Given the description of an element on the screen output the (x, y) to click on. 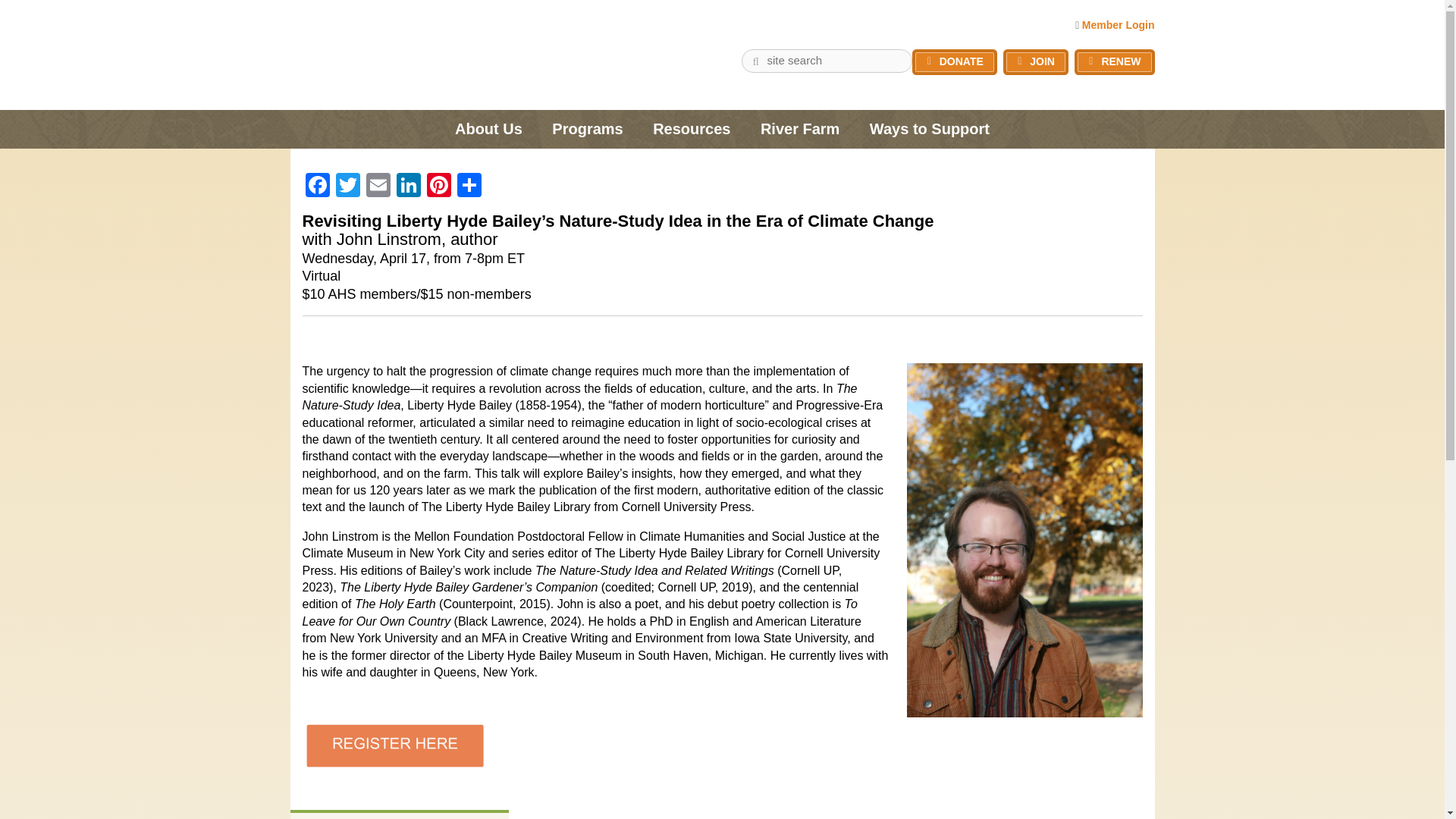
RENEW (1114, 62)
American Horticultural Society (410, 48)
Facebook (316, 186)
Member Login (1117, 24)
Search for: (826, 60)
About Us (487, 128)
DONATE (954, 62)
JOIN (1035, 62)
Resources (691, 128)
Twitter (346, 186)
Email (377, 186)
Programs (587, 128)
Pinterest (437, 186)
site search (756, 59)
LinkedIn (408, 186)
